Given the description of an element on the screen output the (x, y) to click on. 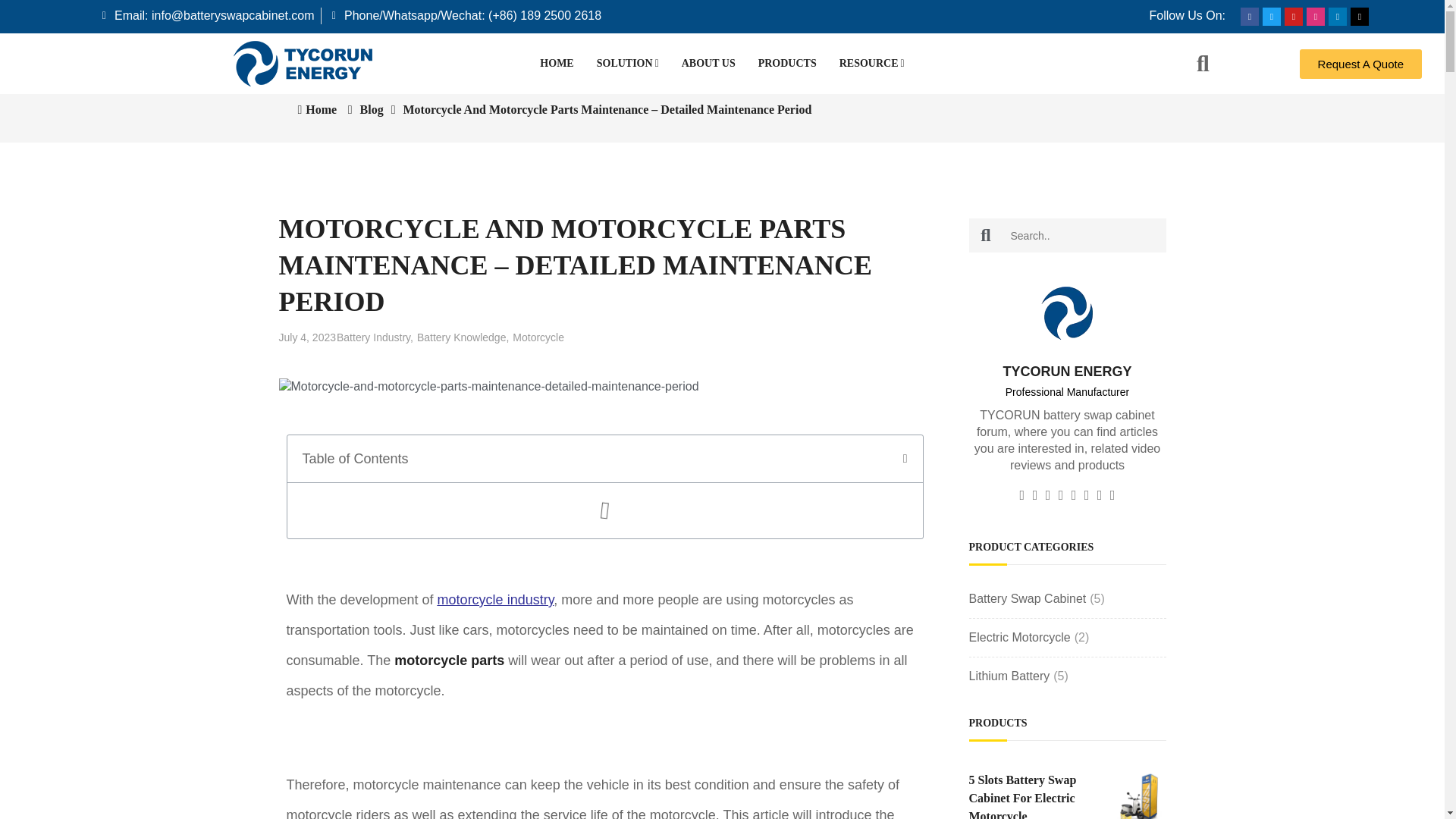
Battery Knowledge (462, 337)
Battery Industry (374, 337)
TYCORUN batteryswapcabinetLOGO1 (1067, 312)
motorcycle industry (496, 599)
PRODUCTS (787, 63)
Request A Quote (1361, 62)
RESOURCE (871, 63)
Motorcycle (538, 337)
Search (986, 235)
Home (316, 109)
